Given the description of an element on the screen output the (x, y) to click on. 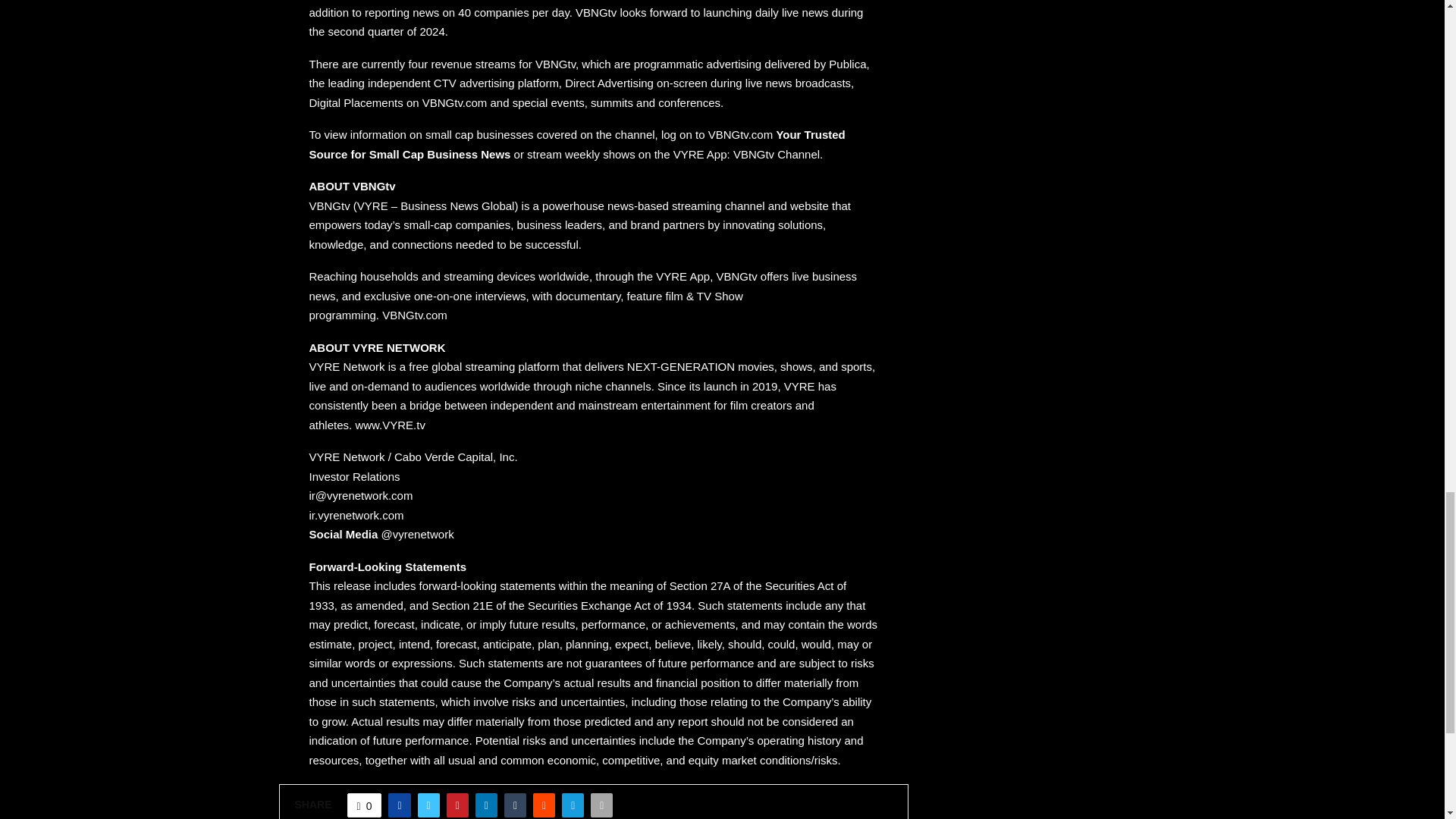
VBNGtv.com (413, 314)
www.VYRE.tv (390, 424)
0 (364, 805)
VYRE Network  (348, 366)
Like (364, 805)
